Given the description of an element on the screen output the (x, y) to click on. 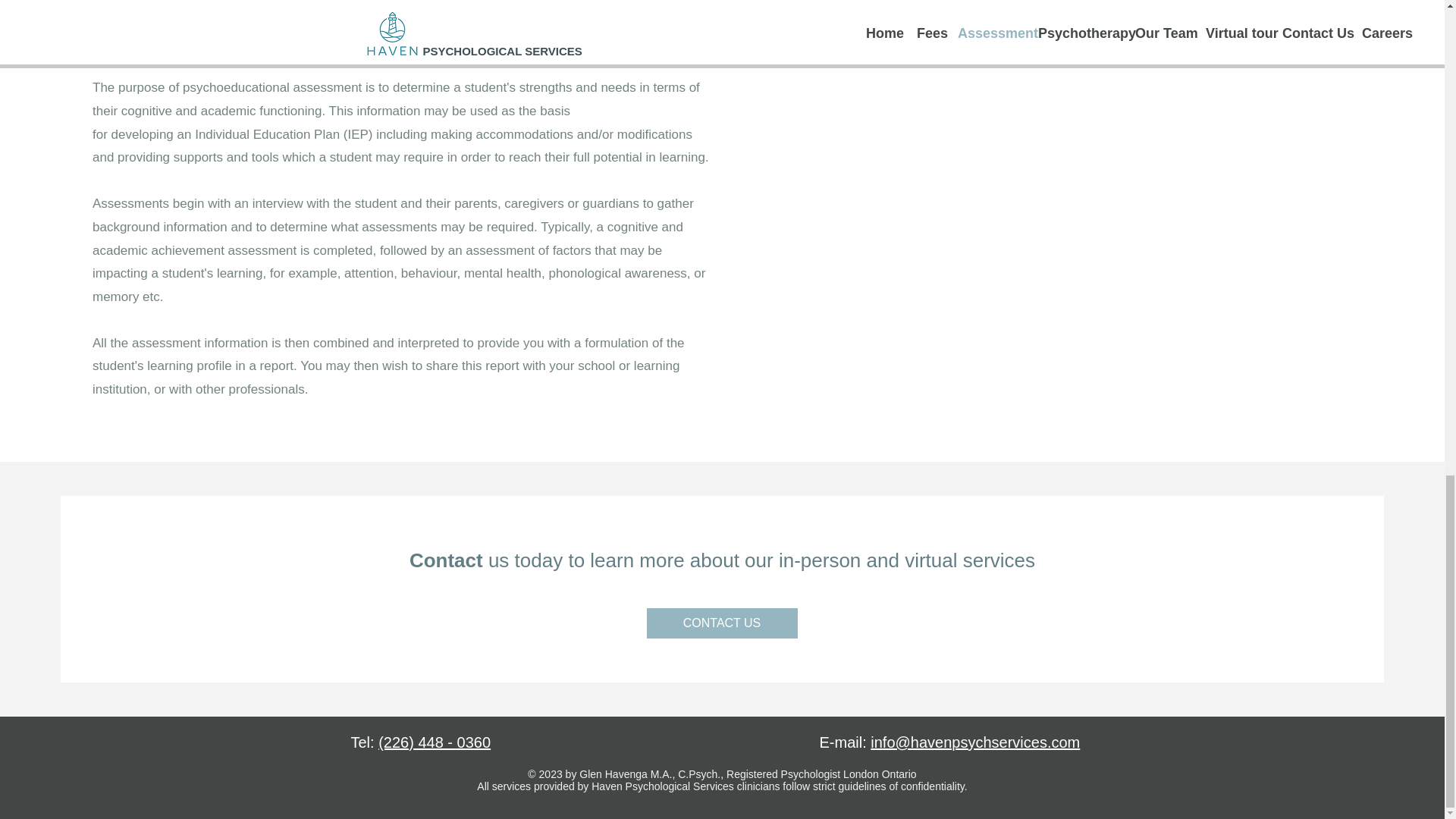
Contact (446, 559)
CONTACT US (721, 623)
